Given the description of an element on the screen output the (x, y) to click on. 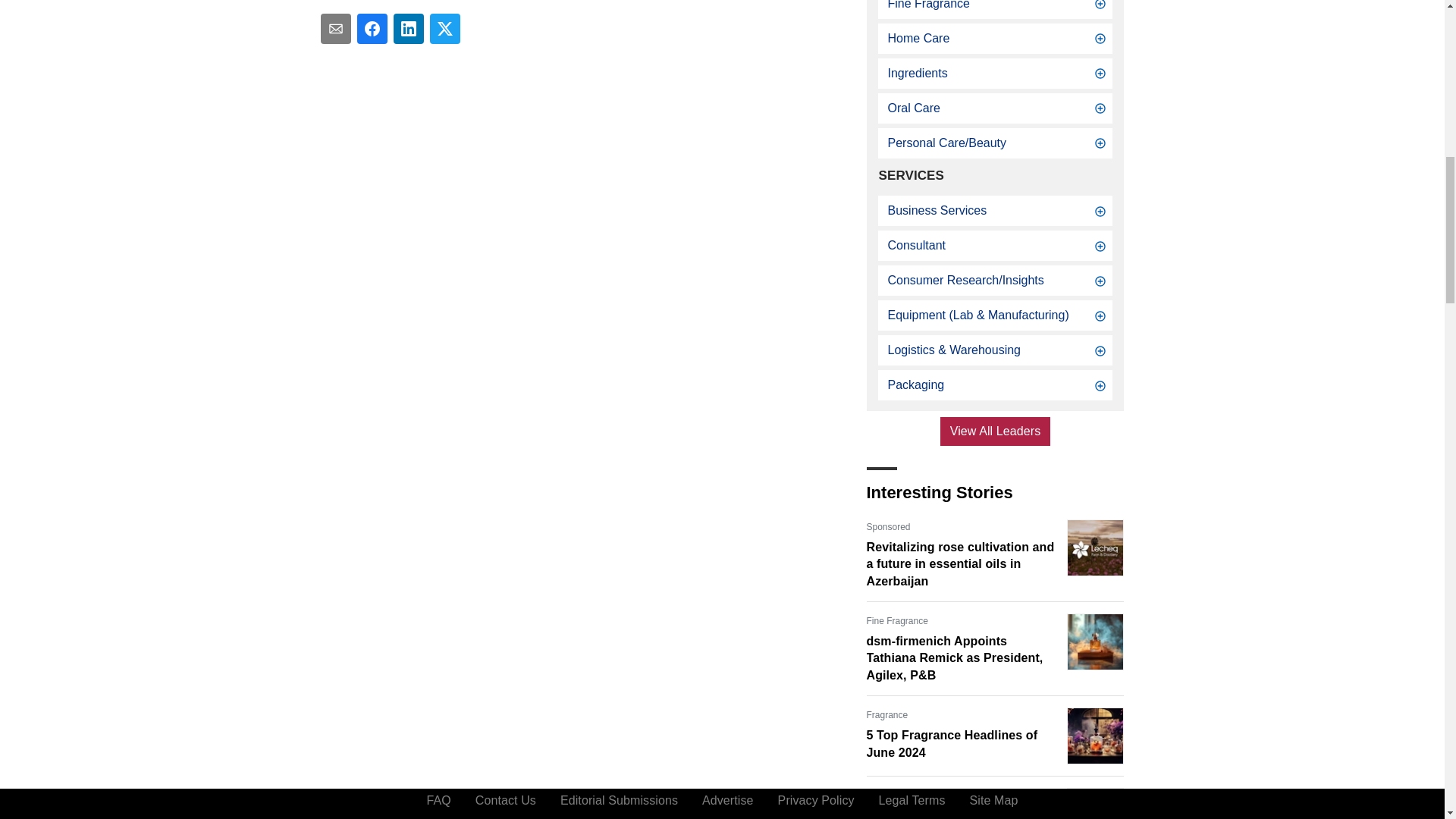
Share To linkedin (408, 28)
Sponsored (888, 526)
Share To twitter (444, 28)
Share To email (335, 28)
Share To facebook (371, 28)
